Given the description of an element on the screen output the (x, y) to click on. 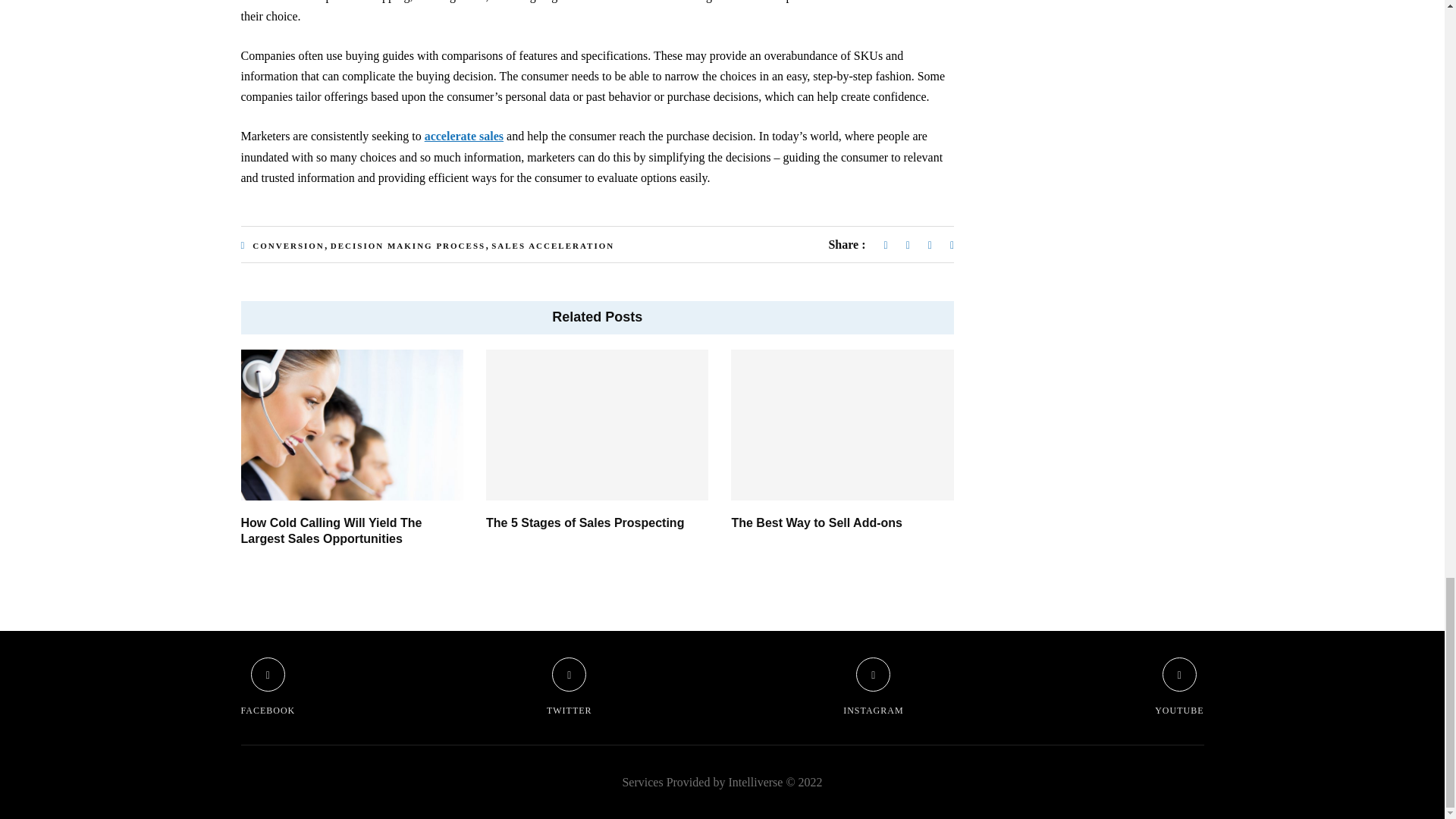
SALES ACCELERATION (553, 245)
CONVERSION (287, 245)
accelerate sales (464, 135)
How Cold Calling Will Yield The Largest Sales Opportunities (331, 530)
DECISION MAKING PROCESS (407, 245)
